Given the description of an element on the screen output the (x, y) to click on. 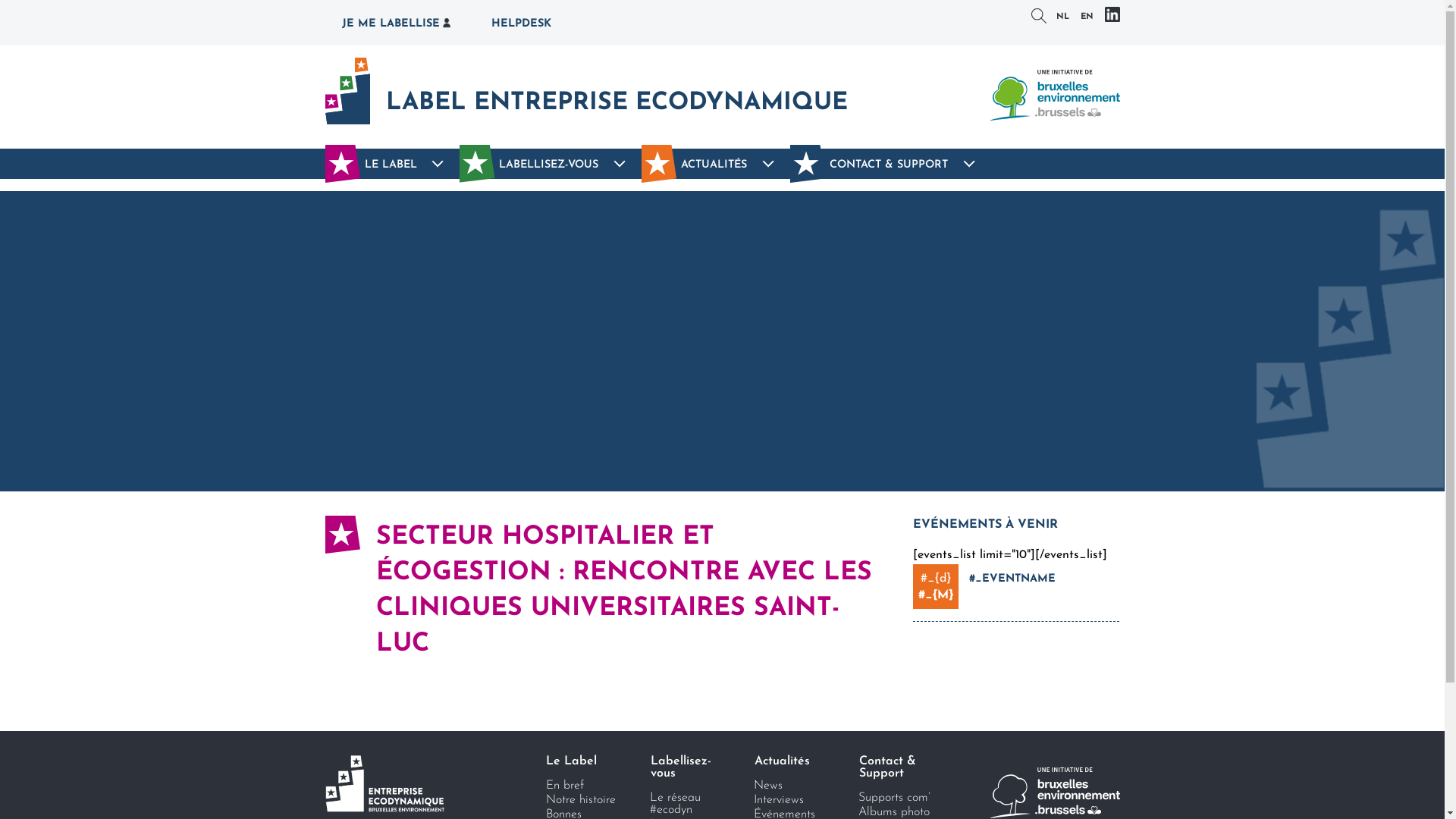
LE LABEL Element type: text (391, 163)
LABELLISEZ-VOUS Element type: text (550, 163)
EN Element type: text (1085, 17)
Notre histoire Element type: text (577, 799)
Rechercher ?> Element type: text (1038, 15)
NL Element type: text (1061, 17)
Labellisez-vous Element type: text (681, 767)
LABEL ENTREPRISE ECODYNAMIQUE Element type: text (585, 90)
Le Label Element type: text (577, 761)
JE ME LABELLISE Element type: text (395, 22)
En bref Element type: text (577, 785)
HELPDESK Element type: text (521, 22)
Une initiative de Bruxelles Environnement Element type: text (1054, 94)
LinkedIn Element type: text (1111, 13)
Contact & Support Element type: text (889, 767)
CONTACT & SUPPORT Element type: text (890, 163)
Albums photo Element type: text (889, 812)
News Element type: text (785, 785)
Une initiative de Bruxelles Environnement Element type: text (1054, 792)
Interviews Element type: text (785, 799)
